Given the description of an element on the screen output the (x, y) to click on. 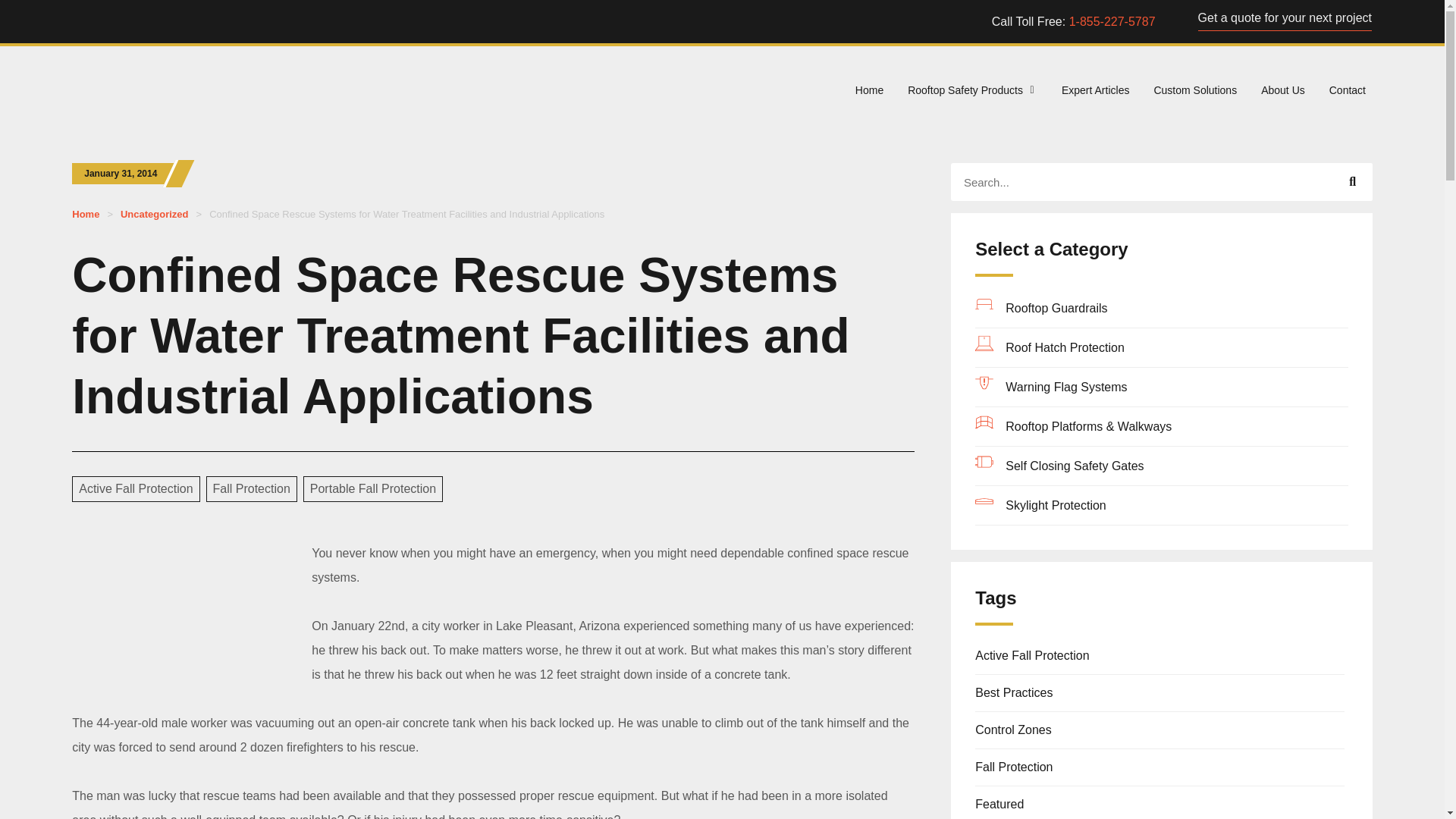
About Us (1282, 90)
Contact (1347, 90)
Home (869, 90)
Get a quote for your next project (1284, 17)
Custom Solutions (1194, 90)
1-855-227-5787 (1112, 21)
Expert Articles (1095, 90)
